Given the description of an element on the screen output the (x, y) to click on. 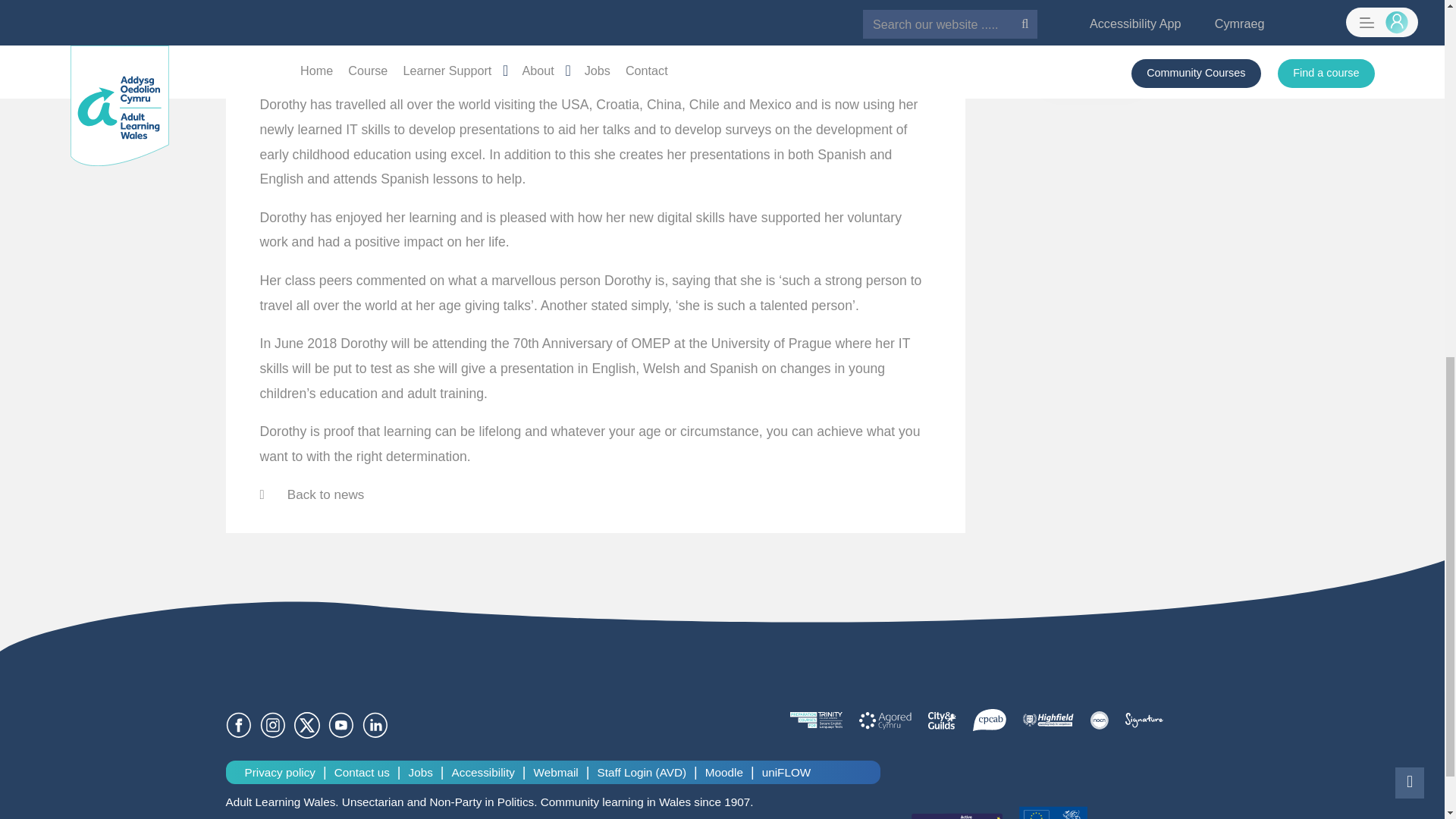
Click to follow us (277, 726)
Click to follow us (345, 726)
Click to follow us (311, 726)
Click to follow us (377, 726)
Click to follow us (242, 726)
